Given the description of an element on the screen output the (x, y) to click on. 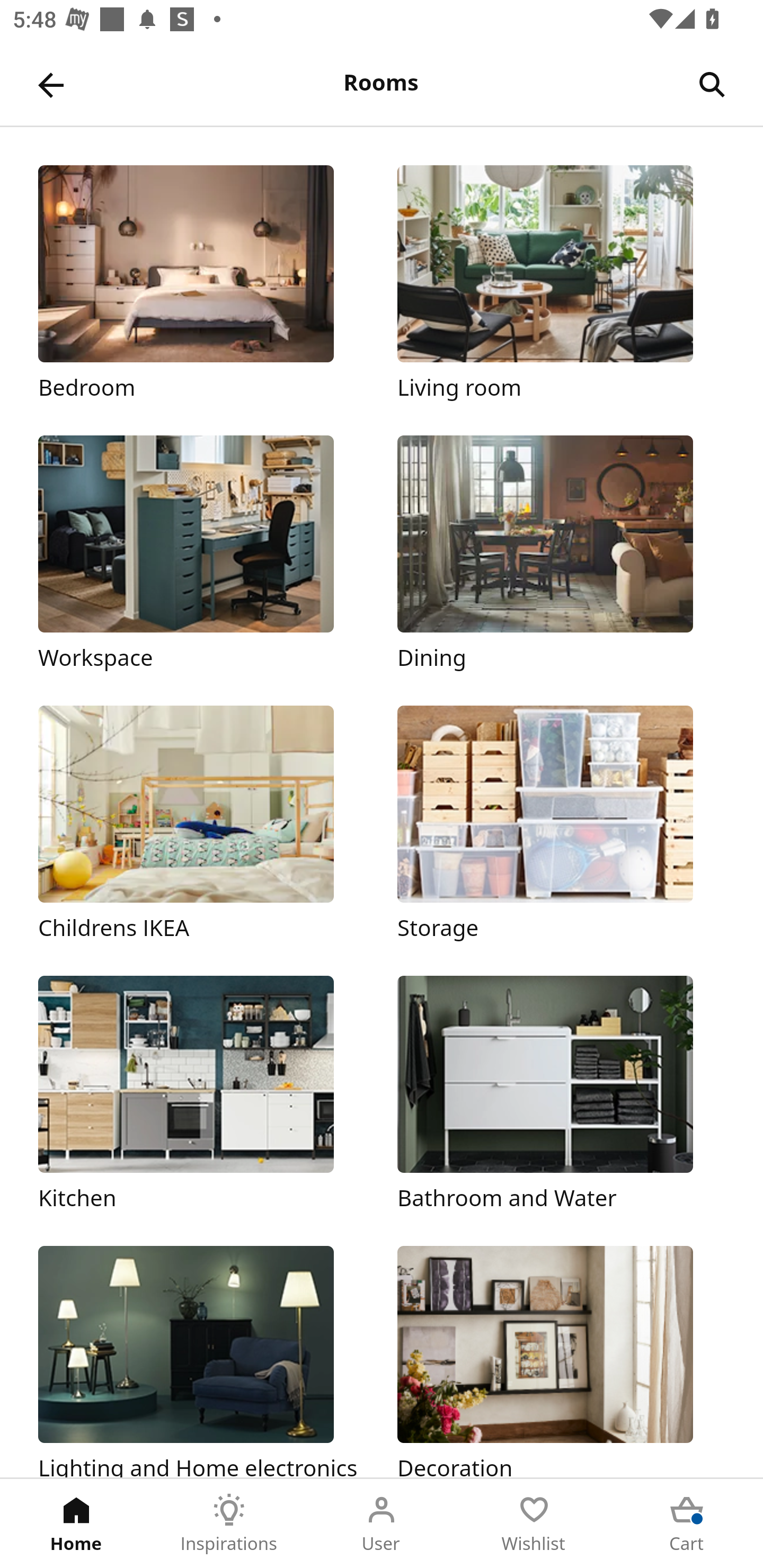
Bedroom (201, 283)
Living room (560, 283)
Workspace (201, 554)
Dining (560, 554)
Childrens IKEA (201, 824)
Storage (560, 824)
Kitchen (201, 1094)
Bathroom and Water (560, 1094)
Lighting and Home electronics (201, 1361)
Decoration (560, 1361)
Home
Tab 1 of 5 (76, 1522)
Inspirations
Tab 2 of 5 (228, 1522)
User
Tab 3 of 5 (381, 1522)
Wishlist
Tab 4 of 5 (533, 1522)
Cart
Tab 5 of 5 (686, 1522)
